Given the description of an element on the screen output the (x, y) to click on. 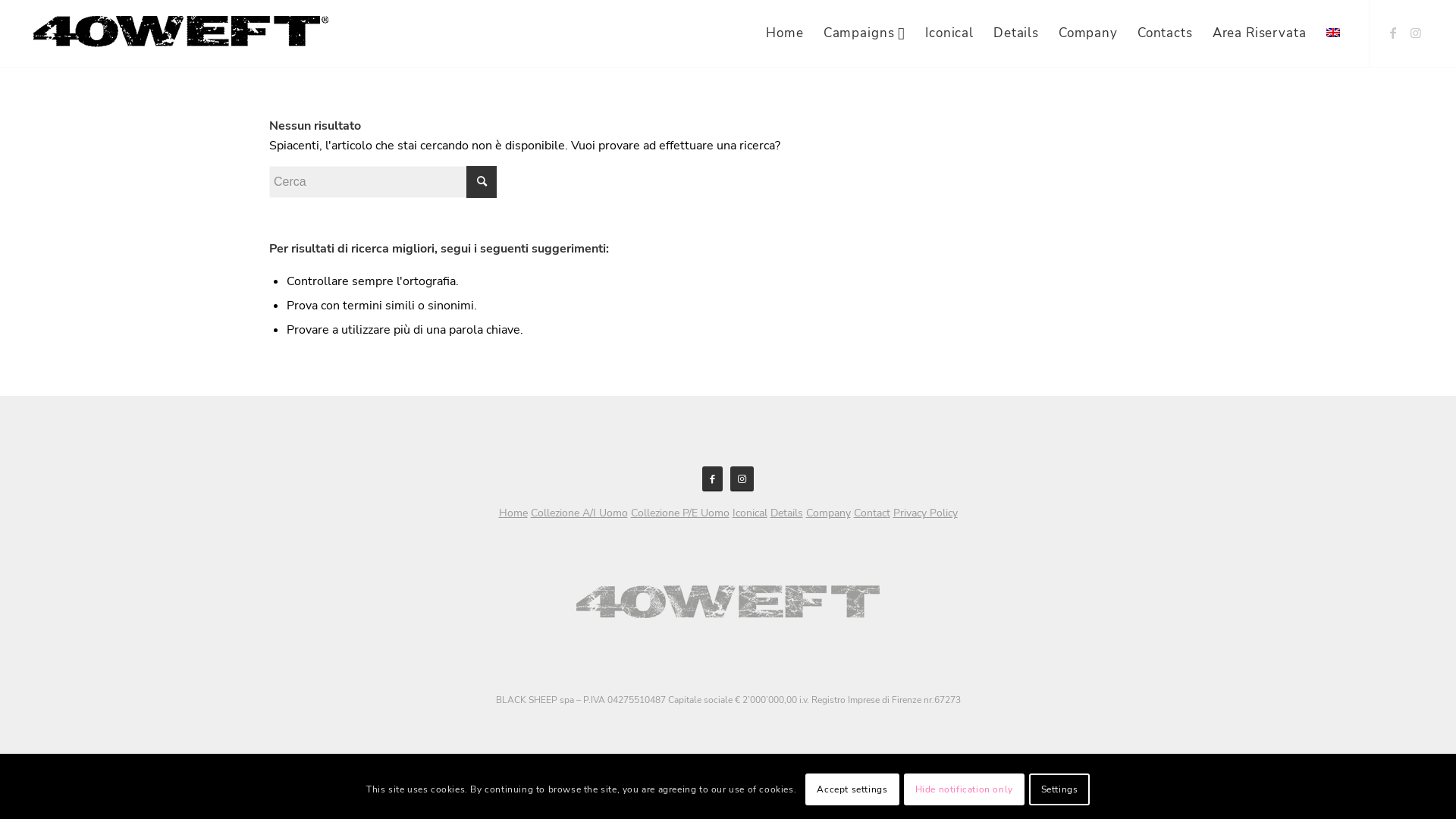
Hide notification only Element type: text (964, 789)
Company Element type: text (1087, 33)
Contact Element type: text (871, 512)
Instagram Element type: hover (1415, 32)
Details Element type: text (1015, 33)
Iconical Element type: text (949, 33)
Settings Element type: text (1059, 789)
Facebook Element type: hover (1392, 32)
Contacts Element type: text (1164, 33)
Company Element type: text (827, 512)
Area Riservata Element type: text (1259, 33)
Home Element type: text (784, 33)
Accept settings Element type: text (851, 789)
Collezione A/I Uomo Element type: text (578, 512)
Privacy Policy Element type: text (925, 512)
Home Element type: text (512, 512)
Collezione P/E Uomo Element type: text (679, 512)
40WEFT Element type: hover (180, 30)
Iconical Element type: text (749, 512)
Details Element type: text (786, 512)
